Given the description of an element on the screen output the (x, y) to click on. 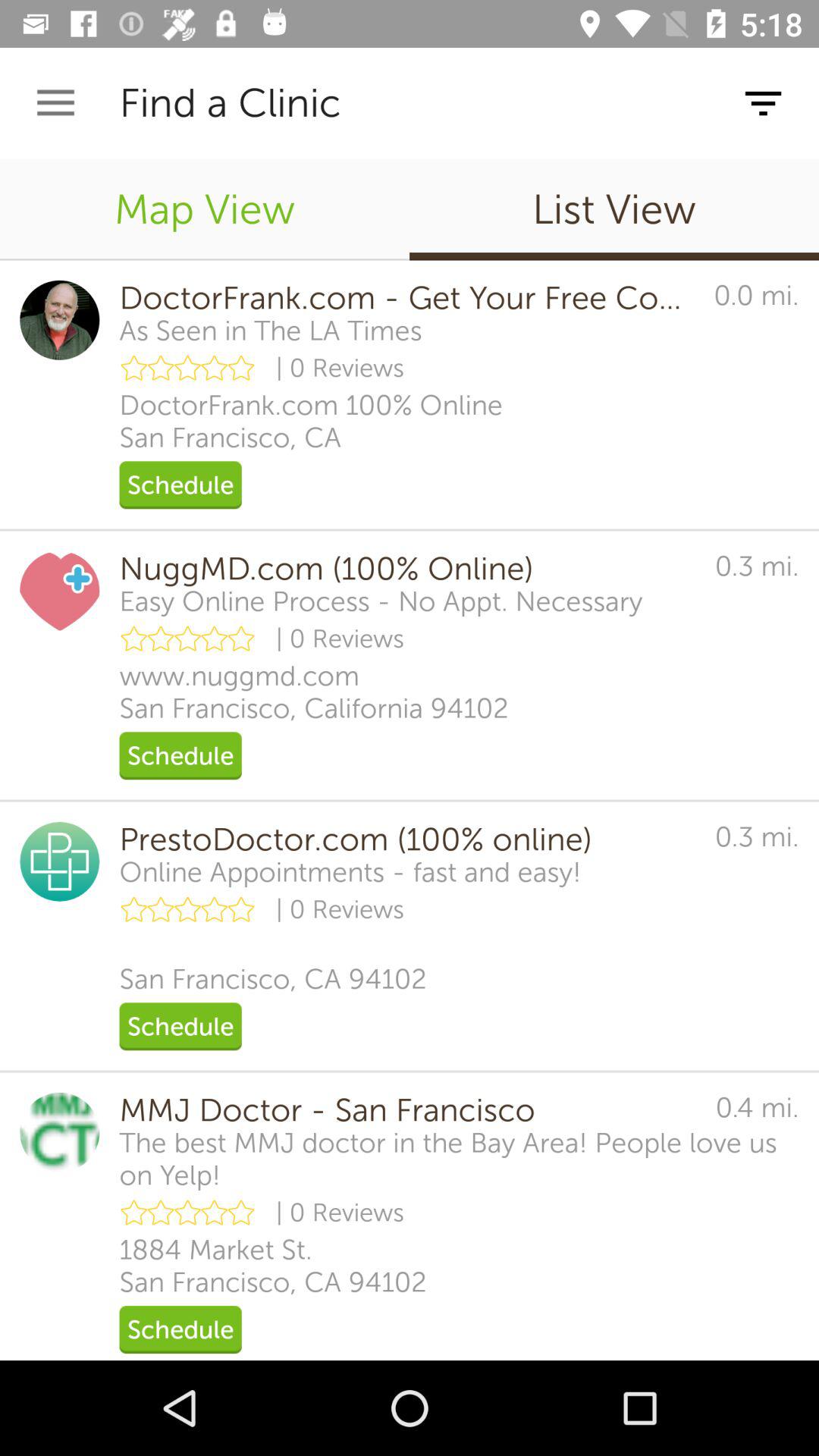
click the the best mmj icon (459, 1158)
